Given the description of an element on the screen output the (x, y) to click on. 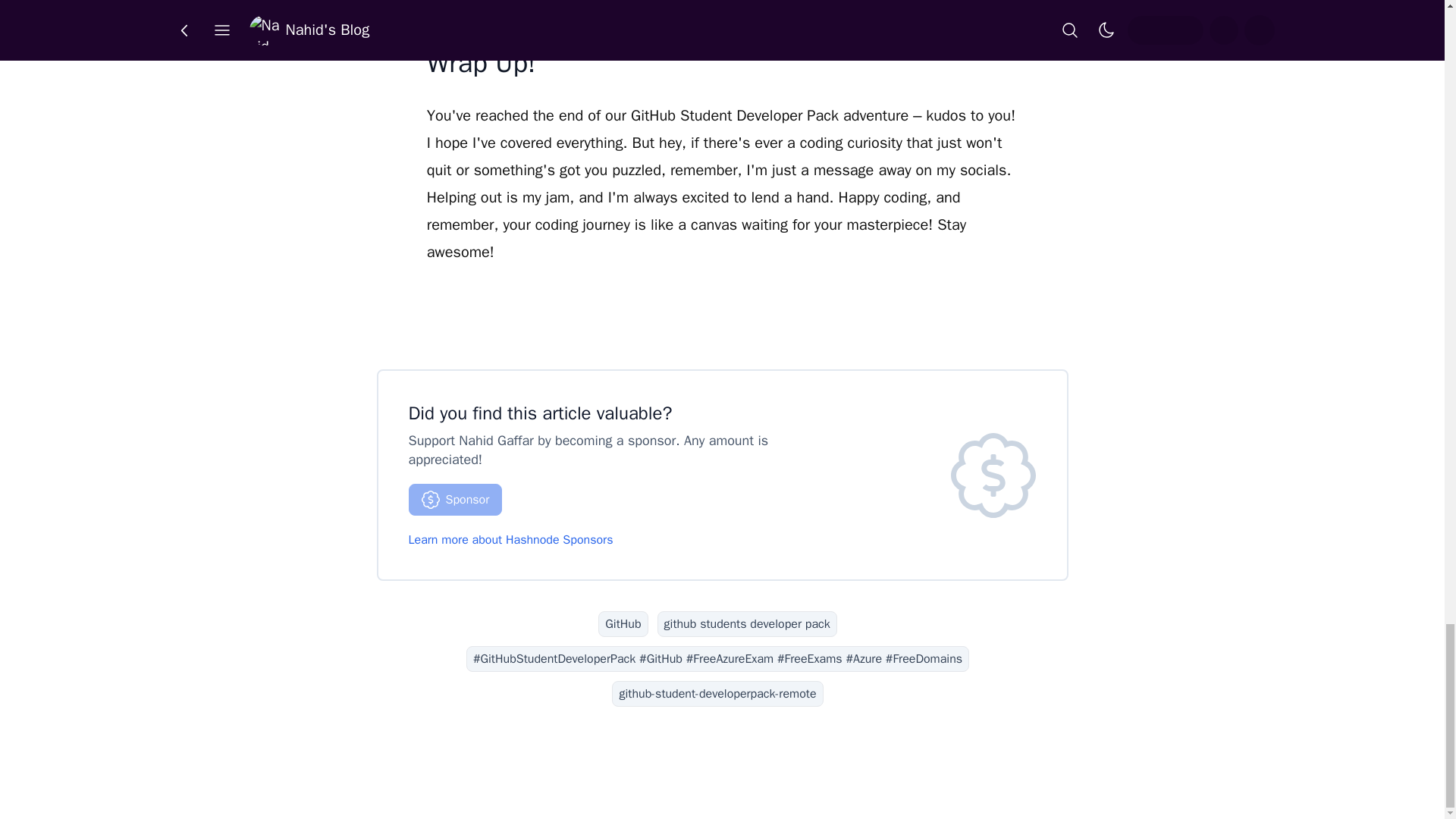
github students developer pack (747, 623)
GitHub (622, 623)
Sponsor (454, 499)
Learn more about Hashnode Sponsors (509, 539)
github-student-developerpack-remote (716, 693)
